Given the description of an element on the screen output the (x, y) to click on. 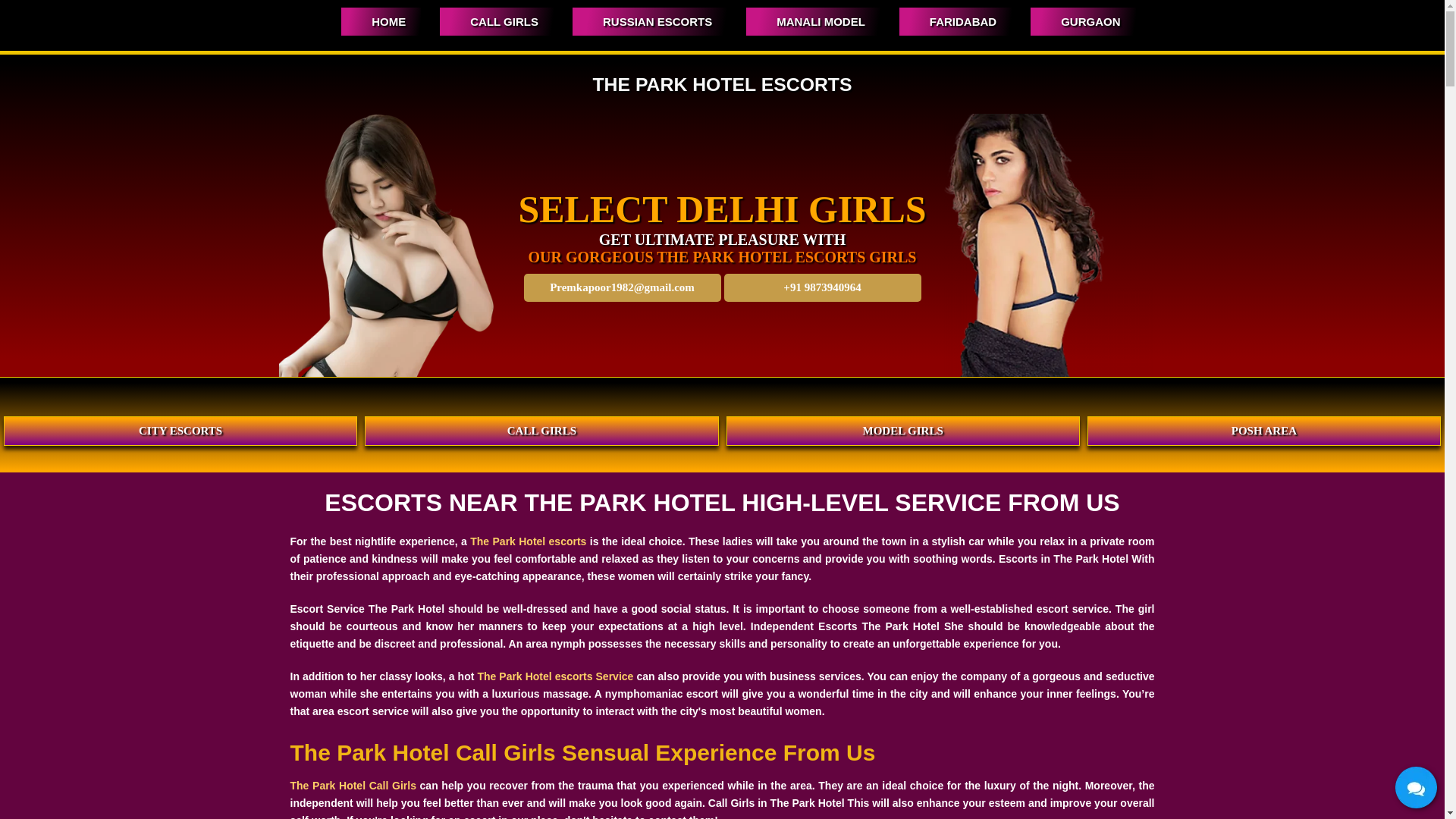
GURGAON (1082, 21)
THE PARK HOTEL ESCORTS (721, 84)
HOME (380, 21)
RUSSIAN ESCORTS (649, 21)
MANALI MODEL (812, 21)
FARIDABAD (955, 21)
CALL GIRLS (496, 21)
